Given the description of an element on the screen output the (x, y) to click on. 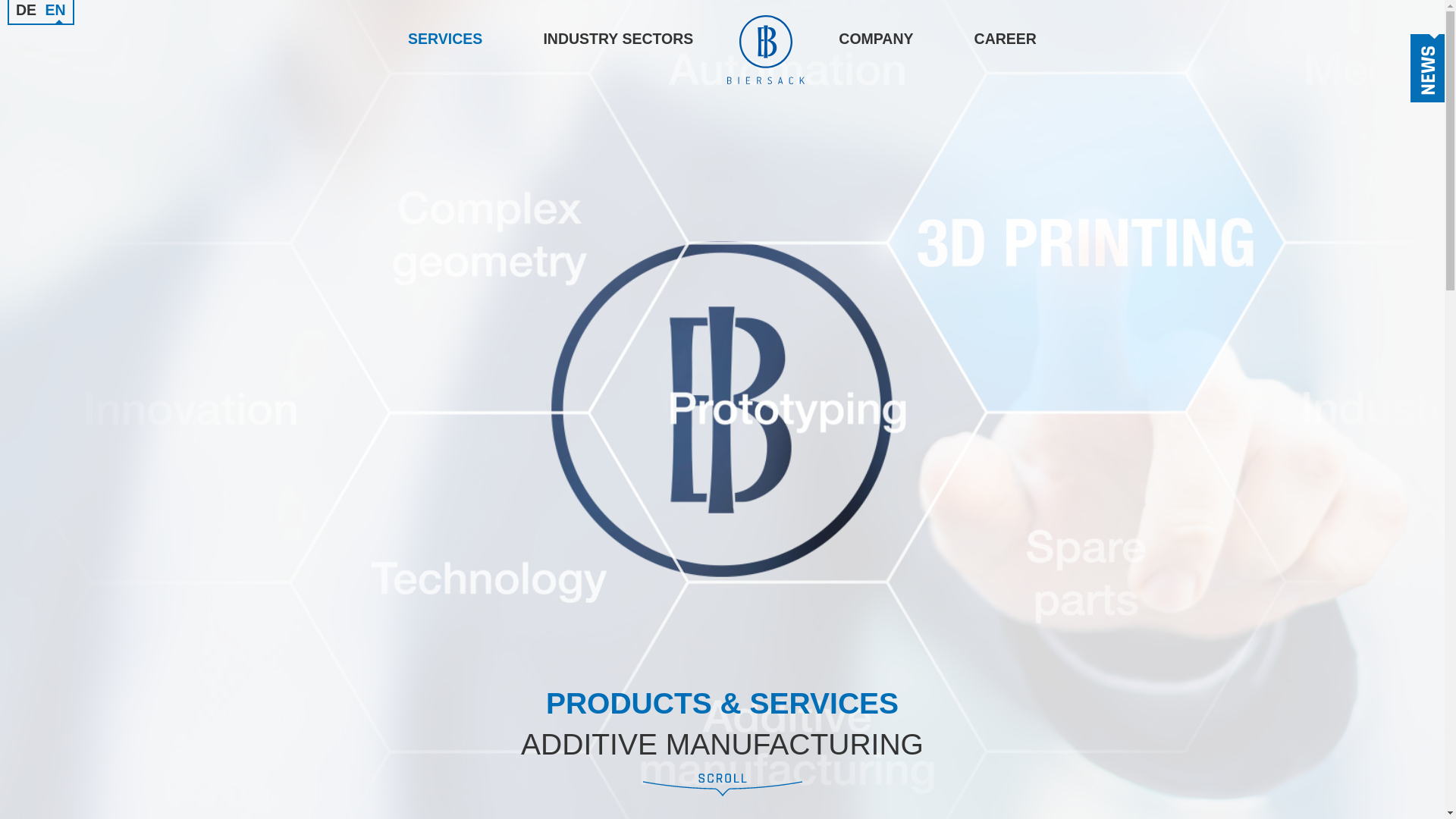
EN (55, 13)
INDUSTRY SECTORS (617, 39)
COMPANY (875, 39)
DE (26, 13)
CAREER (1005, 39)
SERVICES (444, 39)
